Given the description of an element on the screen output the (x, y) to click on. 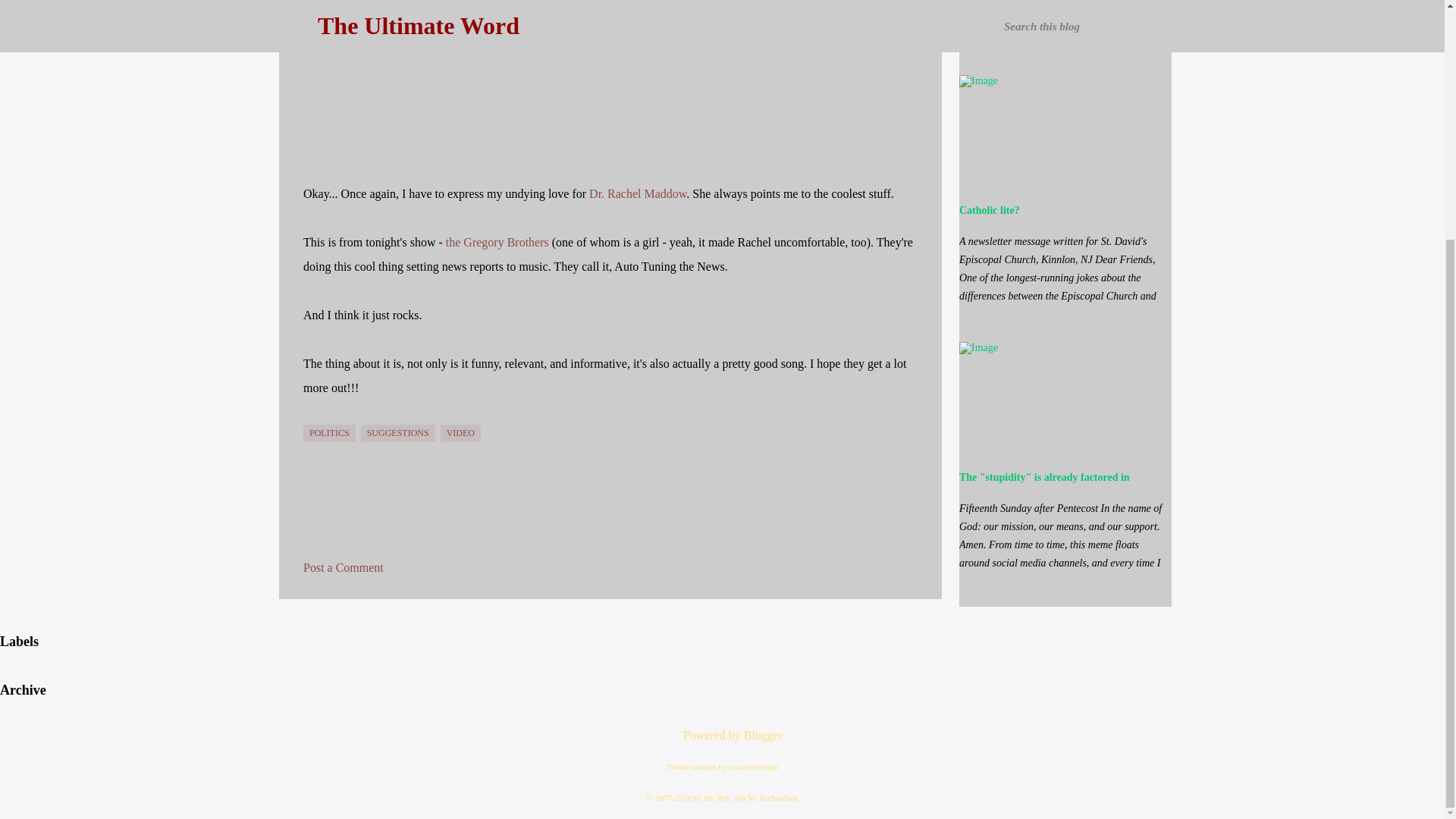
Post a Comment (343, 567)
Email Post (311, 415)
Catholic lite? (989, 210)
the Gregory Brothers (496, 241)
The "stupidity" is already factored in (1044, 477)
POLITICS (328, 433)
SUGGESTIONS (398, 433)
Dr. Rachel Maddow (637, 193)
VIDEO (460, 433)
